Given the description of an element on the screen output the (x, y) to click on. 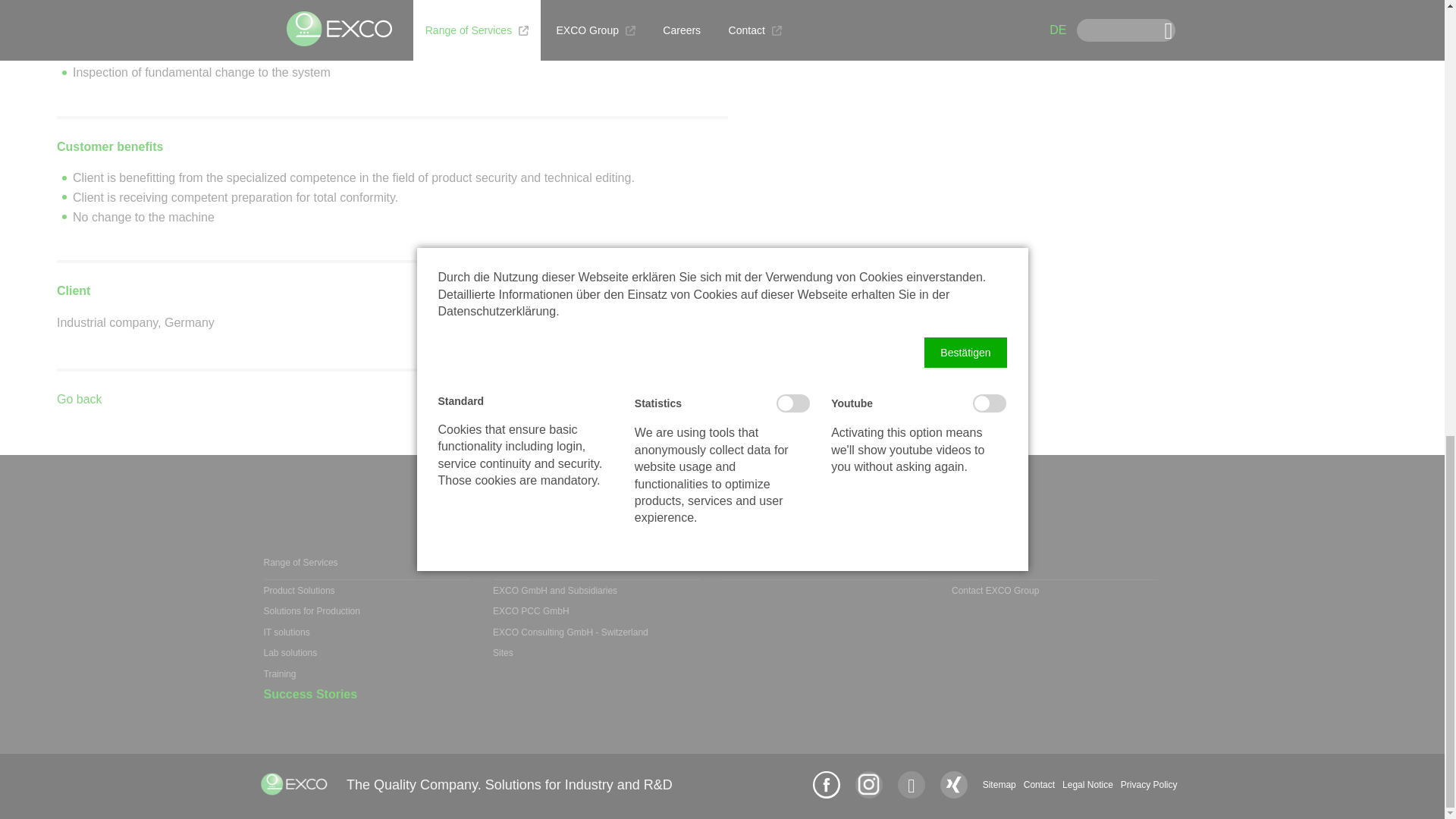
Go back (78, 399)
